Given the description of an element on the screen output the (x, y) to click on. 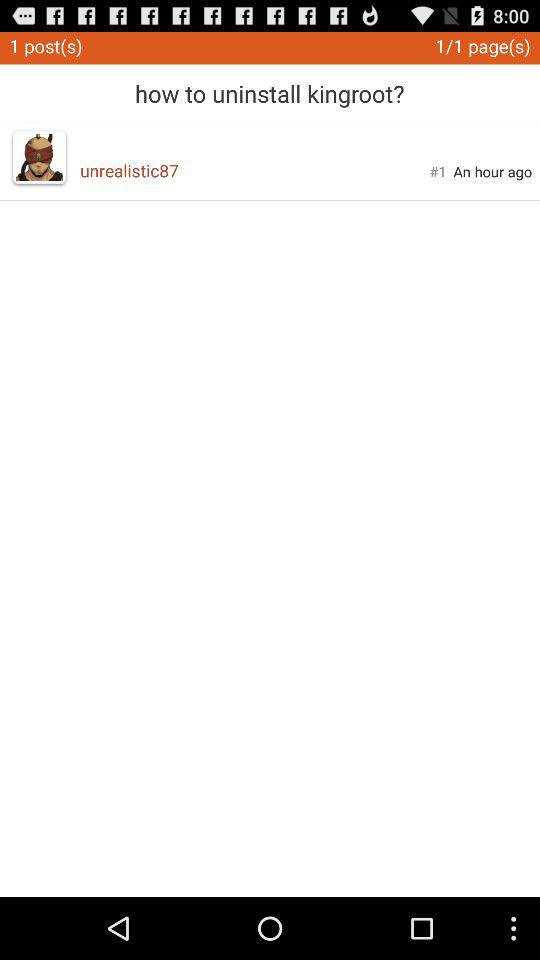
turn off the app below how to uninstall app (254, 170)
